Given the description of an element on the screen output the (x, y) to click on. 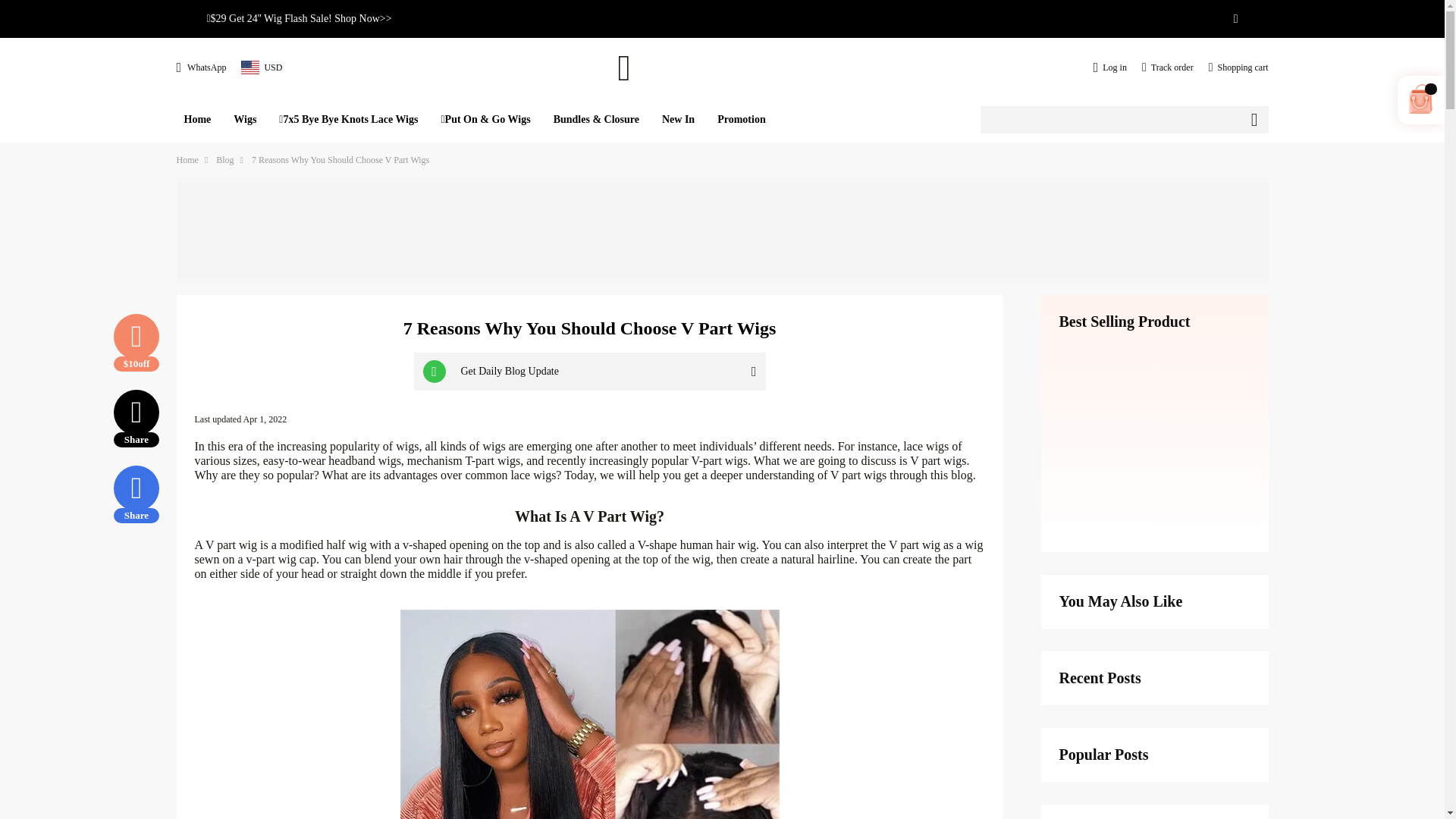
New In (677, 119)
Wigs (244, 119)
julia (722, 67)
Home (197, 119)
Promotion (741, 119)
Log in (1109, 66)
